Given the description of an element on the screen output the (x, y) to click on. 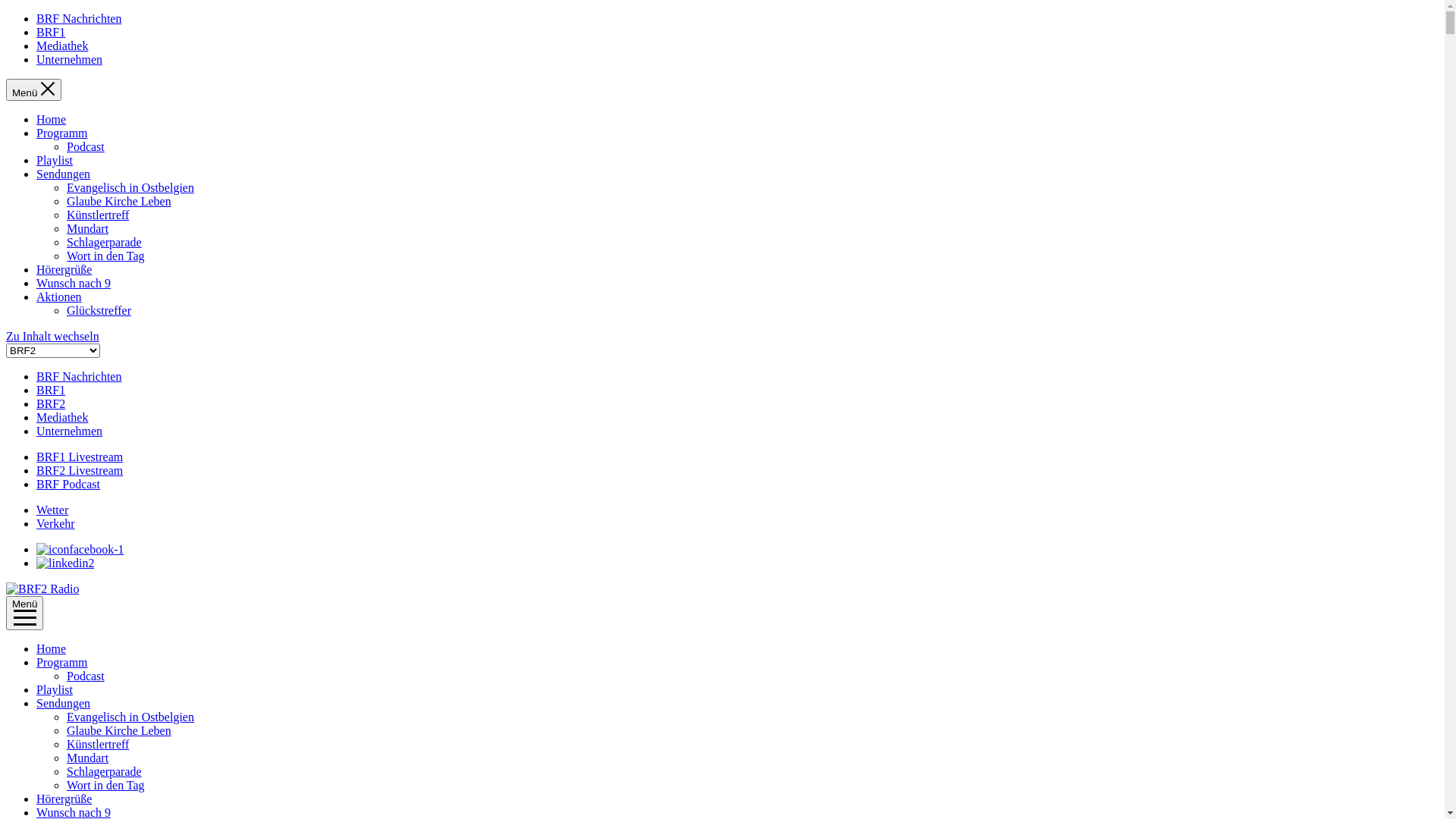
BRF1 Livestream Element type: text (79, 456)
Wort in den Tag Element type: text (105, 255)
Unternehmen Element type: text (69, 59)
Playlist Element type: text (54, 689)
BRF Podcast Element type: text (68, 483)
Glaube Kirche Leben Element type: text (118, 730)
Mediathek Element type: text (61, 417)
Unternehmen Element type: text (69, 430)
Playlist Element type: text (54, 159)
Sendungen Element type: text (63, 702)
BRF2 Element type: text (50, 403)
Wetter Element type: text (52, 509)
BRF1 Element type: text (50, 31)
Podcast Element type: text (85, 146)
Mundart Element type: text (87, 228)
Programm Element type: text (61, 661)
Programm Element type: text (61, 132)
Mundart Element type: text (87, 757)
Wunsch nach 9 Element type: text (73, 282)
BRF Nachrichten Element type: text (78, 18)
Home Element type: text (50, 118)
Verkehr Element type: text (55, 523)
Evangelisch in Ostbelgien Element type: text (130, 187)
Evangelisch in Ostbelgien Element type: text (130, 716)
Sendungen Element type: text (63, 173)
BRF2 Livestream Element type: text (79, 470)
Schlagerparade Element type: text (103, 771)
BRF Nachrichten Element type: text (78, 376)
Mediathek Element type: text (61, 45)
Wort in den Tag Element type: text (105, 784)
Podcast Element type: text (85, 675)
BRF1 Element type: text (50, 389)
Glaube Kirche Leben Element type: text (118, 200)
Schlagerparade Element type: text (103, 241)
Home Element type: text (50, 648)
Zu Inhalt wechseln Element type: text (52, 335)
Aktionen Element type: text (58, 296)
